Given the description of an element on the screen output the (x, y) to click on. 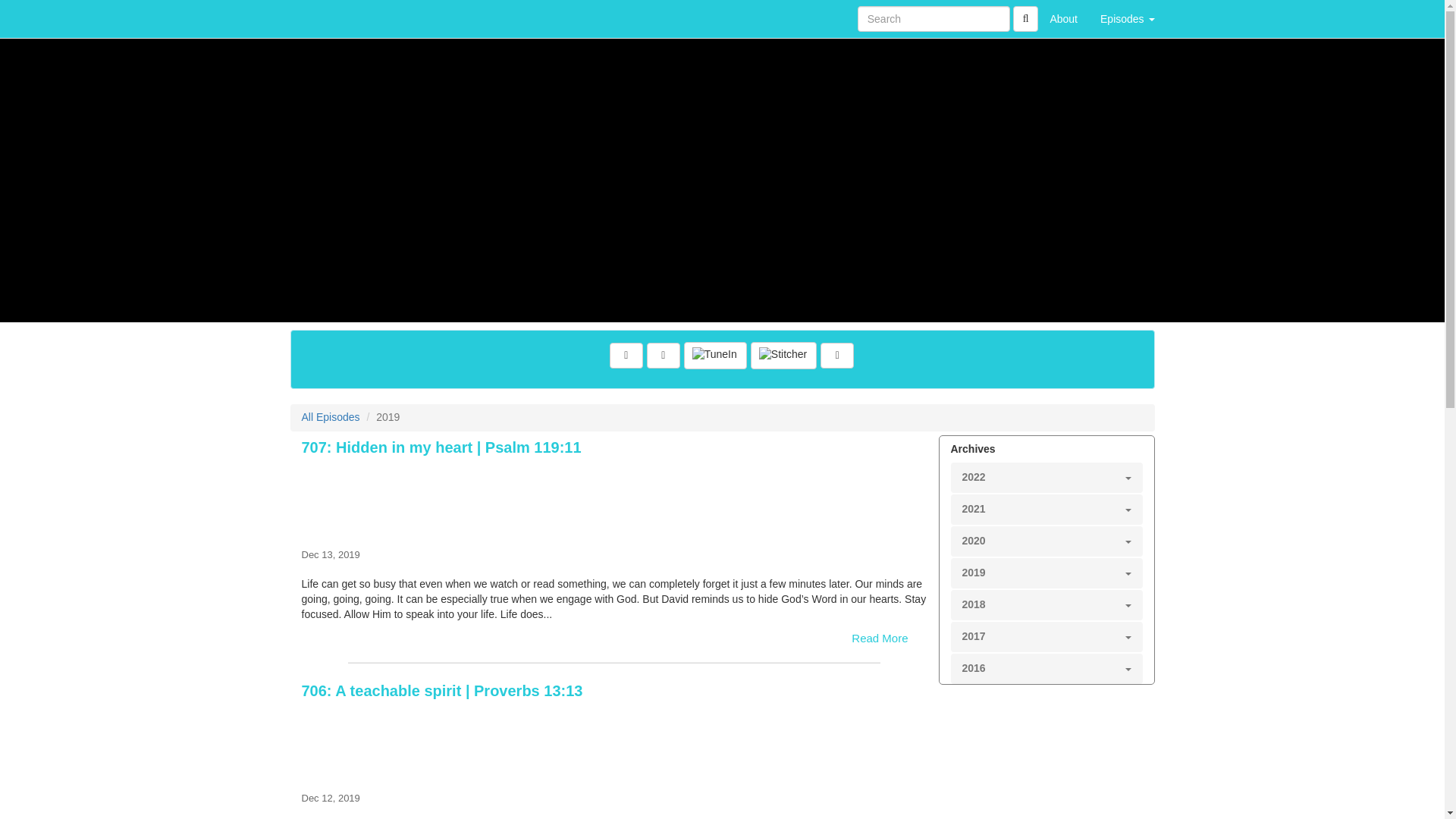
About (1063, 18)
Home Page (320, 18)
Episodes (1127, 18)
Listen on Apple Podcasts (662, 355)
Listen on Spotify (837, 355)
Listen on TuneIn (715, 355)
Subscribe to RSS Feed (626, 355)
Listen on Stitcher (783, 355)
